Given the description of an element on the screen output the (x, y) to click on. 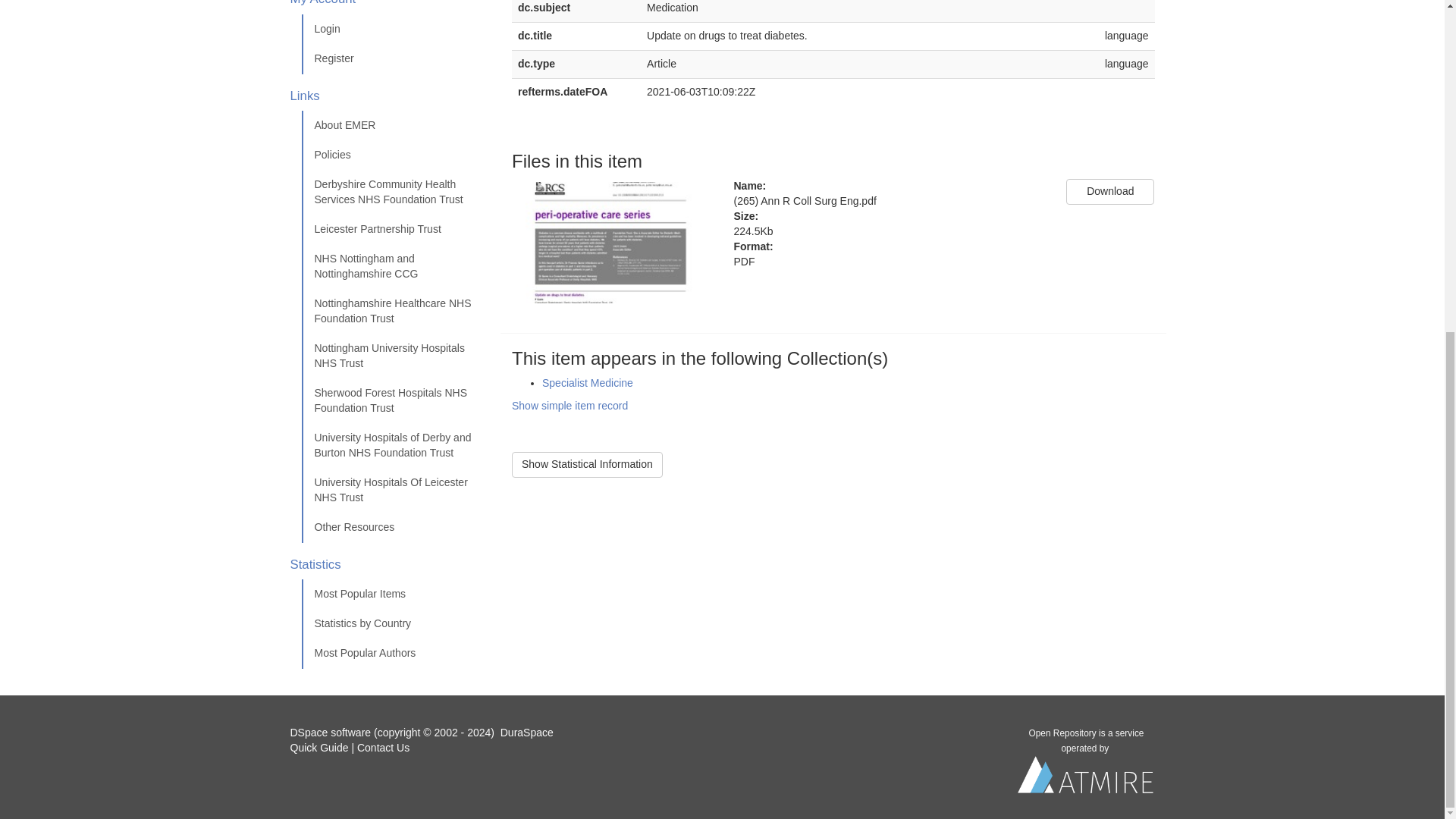
About EMER (395, 125)
Login (395, 29)
Nottingham University Hospitals NHS Trust (395, 356)
Leicester Partnership Trust (395, 229)
Nottinghamshire Healthcare NHS Foundation Trust (395, 311)
Register (395, 59)
University Hospitals Of Leicester NHS Trust (395, 490)
Atmire NV (1085, 779)
Derbyshire Community Health Services NHS Foundation Trust (395, 192)
Policies (395, 155)
Sherwood Forest Hospitals NHS Foundation Trust (395, 401)
NHS Nottingham and Nottinghamshire CCG (395, 266)
